Given the description of an element on the screen output the (x, y) to click on. 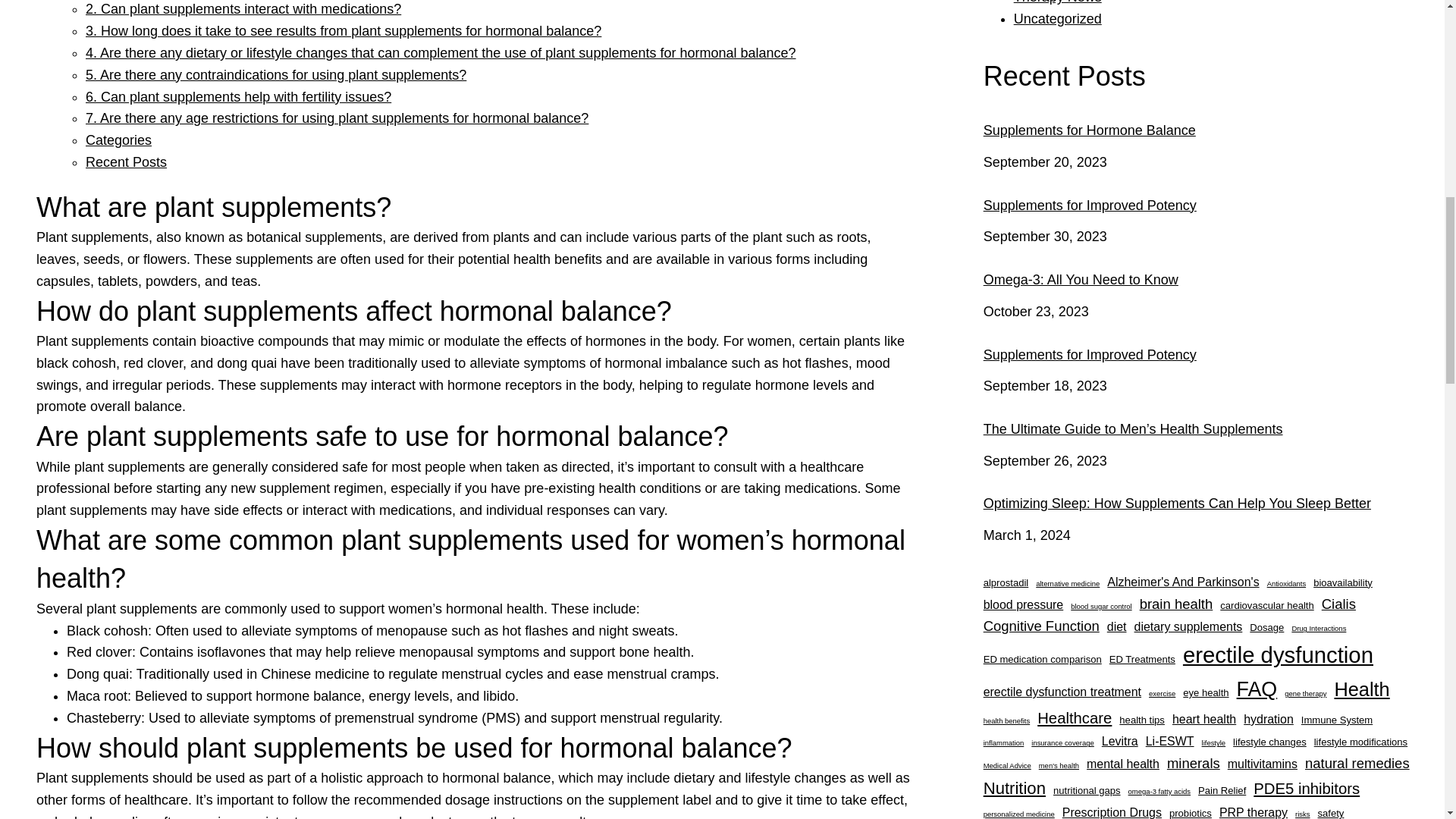
6. Can plant supplements help with fertility issues? (238, 96)
Supplements for Hormone Balance (1202, 130)
Categories (118, 140)
Supplements for Improved Potency (1202, 206)
Supplements for Improved Potency (1202, 355)
Uncategorized (1057, 18)
Therapy News (1057, 2)
Recent Posts (126, 161)
Omega-3: All You Need to Know (1202, 280)
2. Can plant supplements interact with medications? (243, 8)
